Given the description of an element on the screen output the (x, y) to click on. 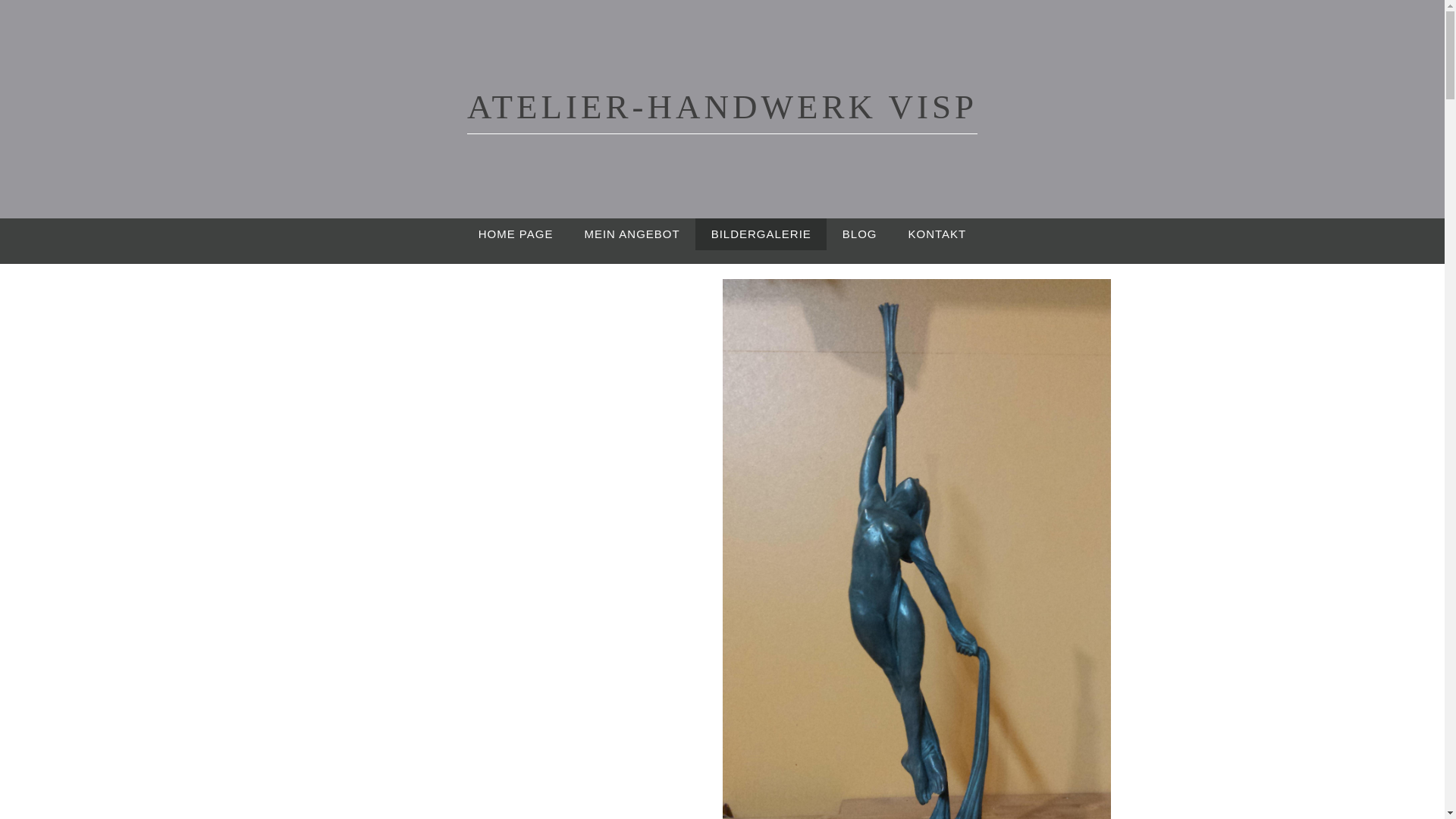
ATELIER-HANDWERK VISP Element type: text (722, 110)
HOME PAGE Element type: text (515, 234)
BILDERGALERIE Element type: text (760, 234)
BLOG Element type: text (859, 234)
KONTAKT Element type: text (937, 234)
MEIN ANGEBOT Element type: text (631, 234)
